Given the description of an element on the screen output the (x, y) to click on. 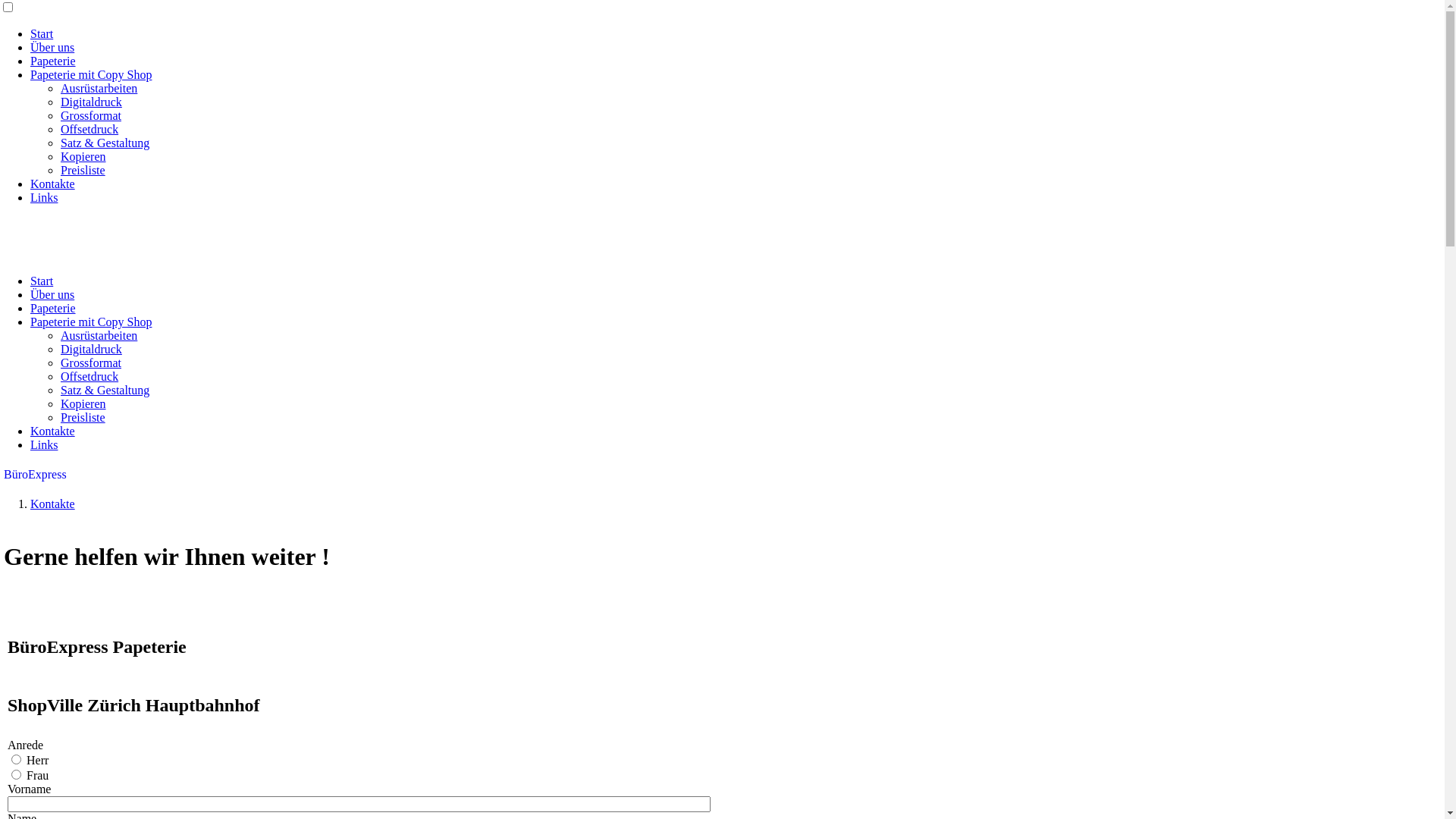
Kontakte Element type: text (52, 183)
Grossformat Element type: text (90, 115)
Papeterie Element type: text (52, 60)
Links Element type: text (43, 197)
Links Element type: text (43, 444)
Satz & Gestaltung Element type: text (104, 142)
Start Element type: text (41, 280)
Papeterie mit Copy Shop Element type: text (90, 74)
Kontakte Element type: text (52, 503)
Papeterie mit Copy Shop Element type: text (90, 321)
Start Element type: text (41, 33)
Digitaldruck Element type: text (91, 101)
Preisliste Element type: text (82, 169)
Offsetdruck Element type: text (89, 128)
Satz & Gestaltung Element type: text (104, 389)
Kopieren Element type: text (83, 403)
Papeterie Element type: text (52, 307)
Grossformat Element type: text (90, 362)
Digitaldruck Element type: text (91, 348)
Preisliste Element type: text (82, 417)
Kontakte Element type: text (52, 430)
Kopieren Element type: text (83, 156)
Offsetdruck Element type: text (89, 376)
